Given the description of an element on the screen output the (x, y) to click on. 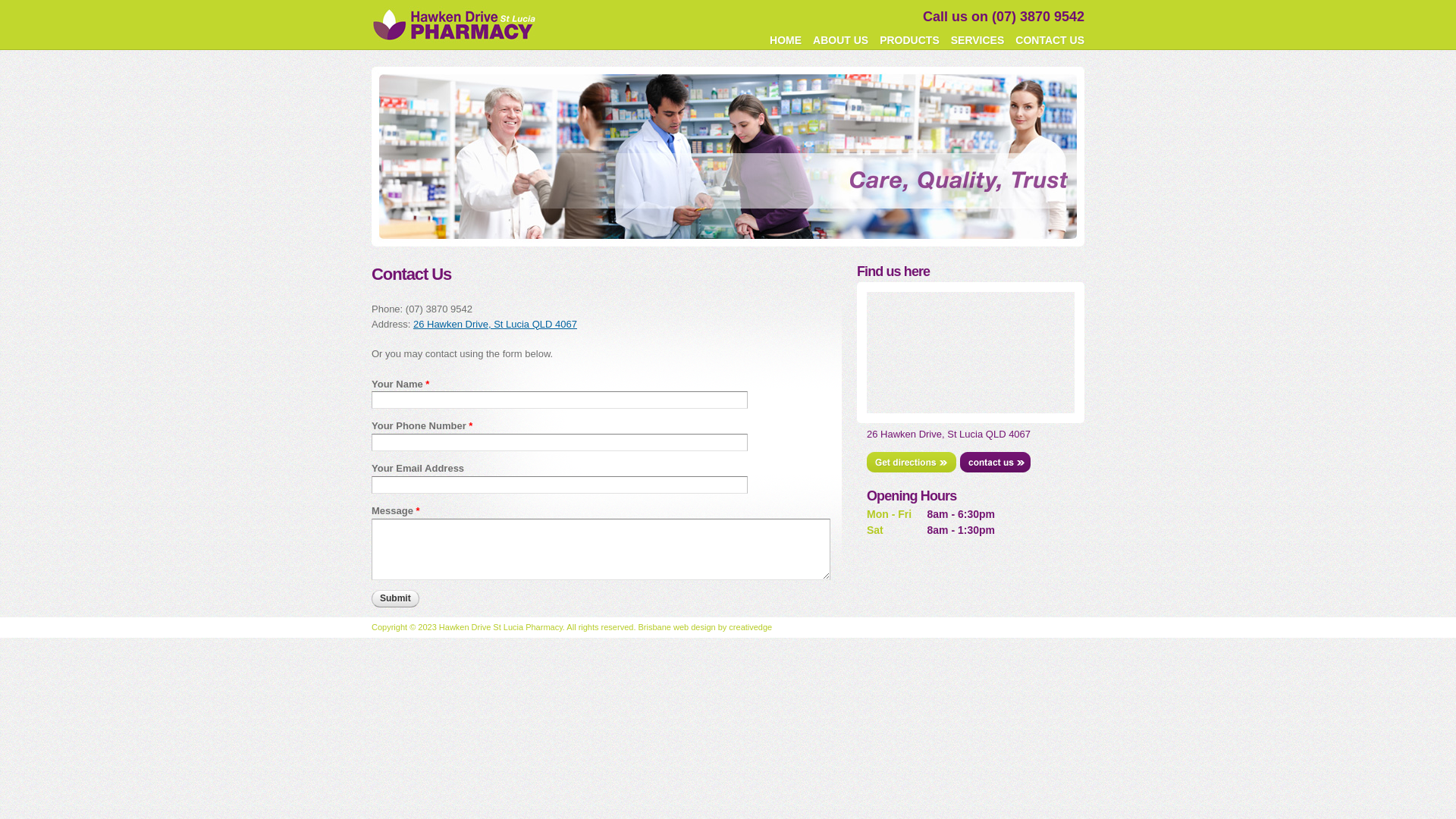
Get directions Element type: text (911, 461)
Brisbane web design Element type: text (676, 626)
26 Hawken Drive, St Lucia QLD 4067 Element type: text (495, 323)
CONTACT US Element type: text (1049, 40)
HOME Element type: text (785, 40)
ABOUT US Element type: text (840, 40)
26 Hawken Drive, St Lucia QLD 4067 Element type: text (948, 433)
SERVICES Element type: text (977, 40)
Skip to main content Element type: text (700, 1)
Submit Element type: text (395, 598)
Contact us Element type: text (995, 461)
PRODUCTS Element type: text (909, 40)
